Given the description of an element on the screen output the (x, y) to click on. 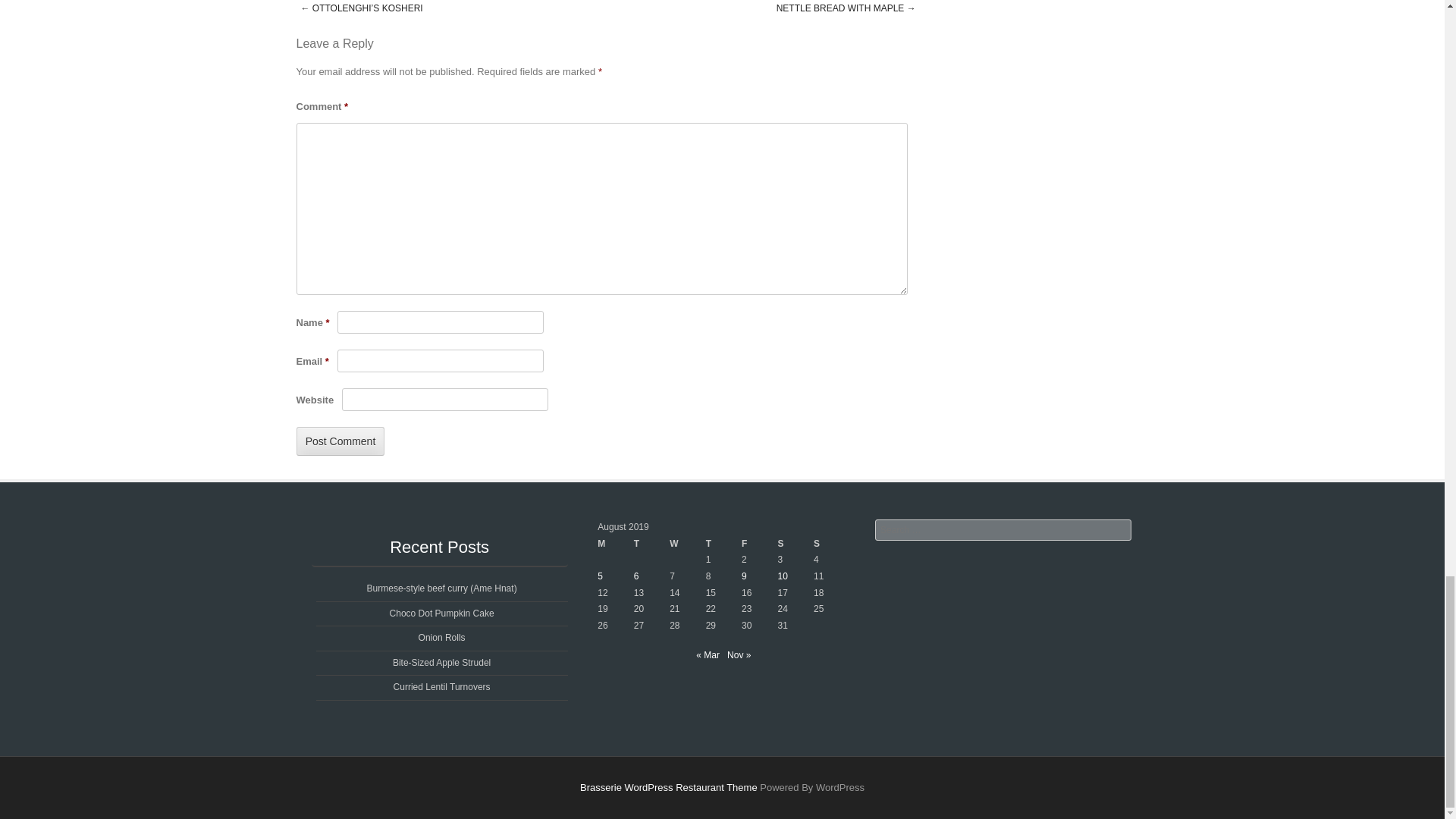
Post Comment (339, 440)
Friday (759, 544)
Monday (614, 544)
Sunday (830, 544)
Thursday (723, 544)
Tuesday (651, 544)
Wednesday (686, 544)
Post Comment (339, 440)
Saturday (795, 544)
